Given the description of an element on the screen output the (x, y) to click on. 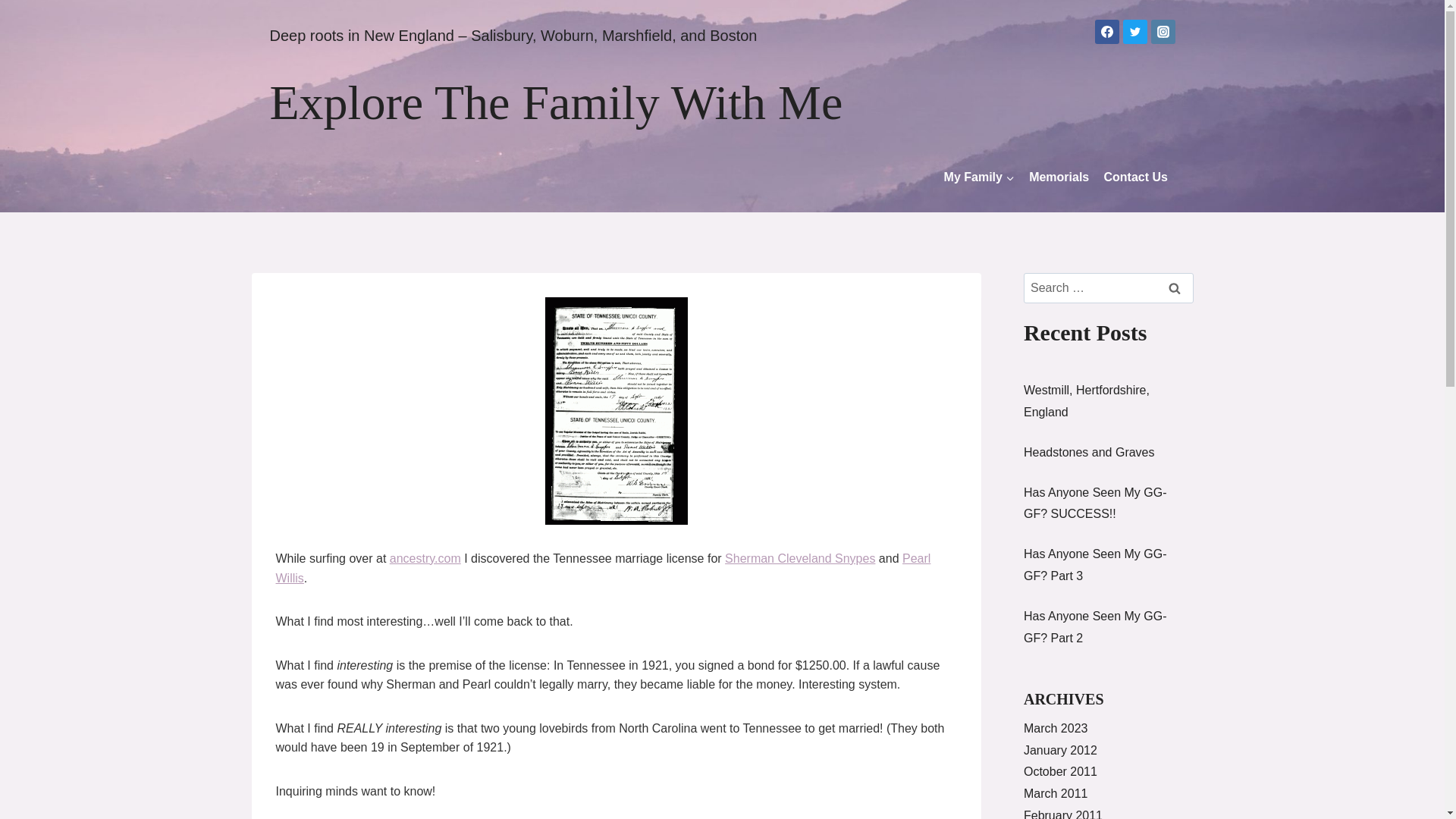
February 2011 (1062, 814)
March 2023 (1055, 727)
March 2011 (1055, 793)
Contact Us (1135, 176)
Westmill, Hertfordshire, England (1086, 401)
Search (1174, 287)
Sherman Cleveland Snypes (800, 558)
My Family (979, 176)
ancestry.com (425, 558)
January 2012 (1060, 749)
Search (1174, 287)
October 2011 (1060, 771)
Has Anyone Seen My GG-GF? SUCCESS!! (1095, 503)
Headstones and Graves (1088, 451)
Memorials (1059, 176)
